Given the description of an element on the screen output the (x, y) to click on. 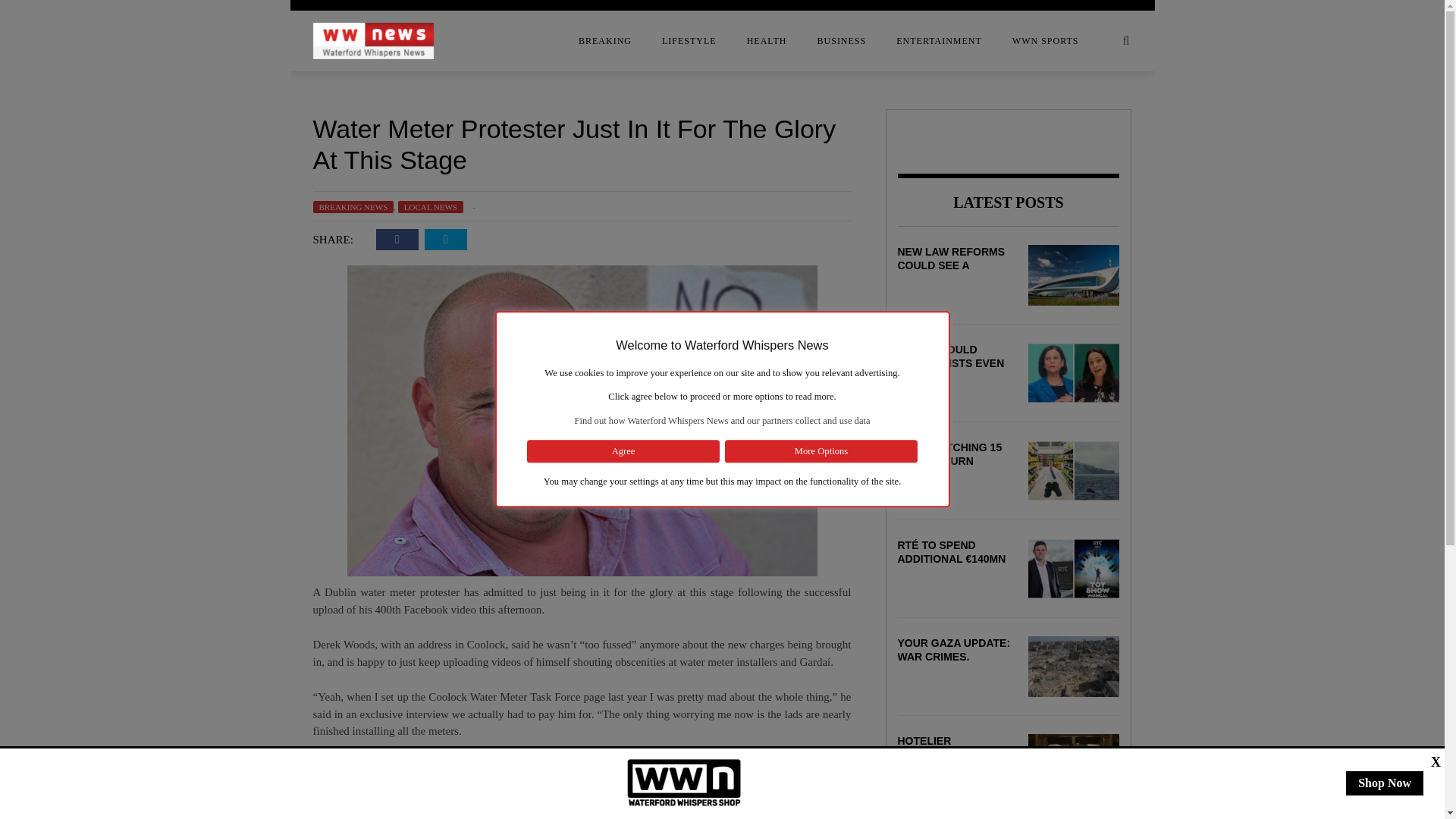
Support us on waterfordwhispers.shop (684, 782)
CONTACT US (191, 116)
YOUR PRIVACY SETTINGS (191, 268)
COMPETITION RULES (191, 86)
PRIVACY (191, 237)
DISCLAIMER (191, 146)
BREAKING (604, 40)
HOMEPAGE (191, 177)
NEWSLETTER SIGN UP FORM (191, 207)
